Given the description of an element on the screen output the (x, y) to click on. 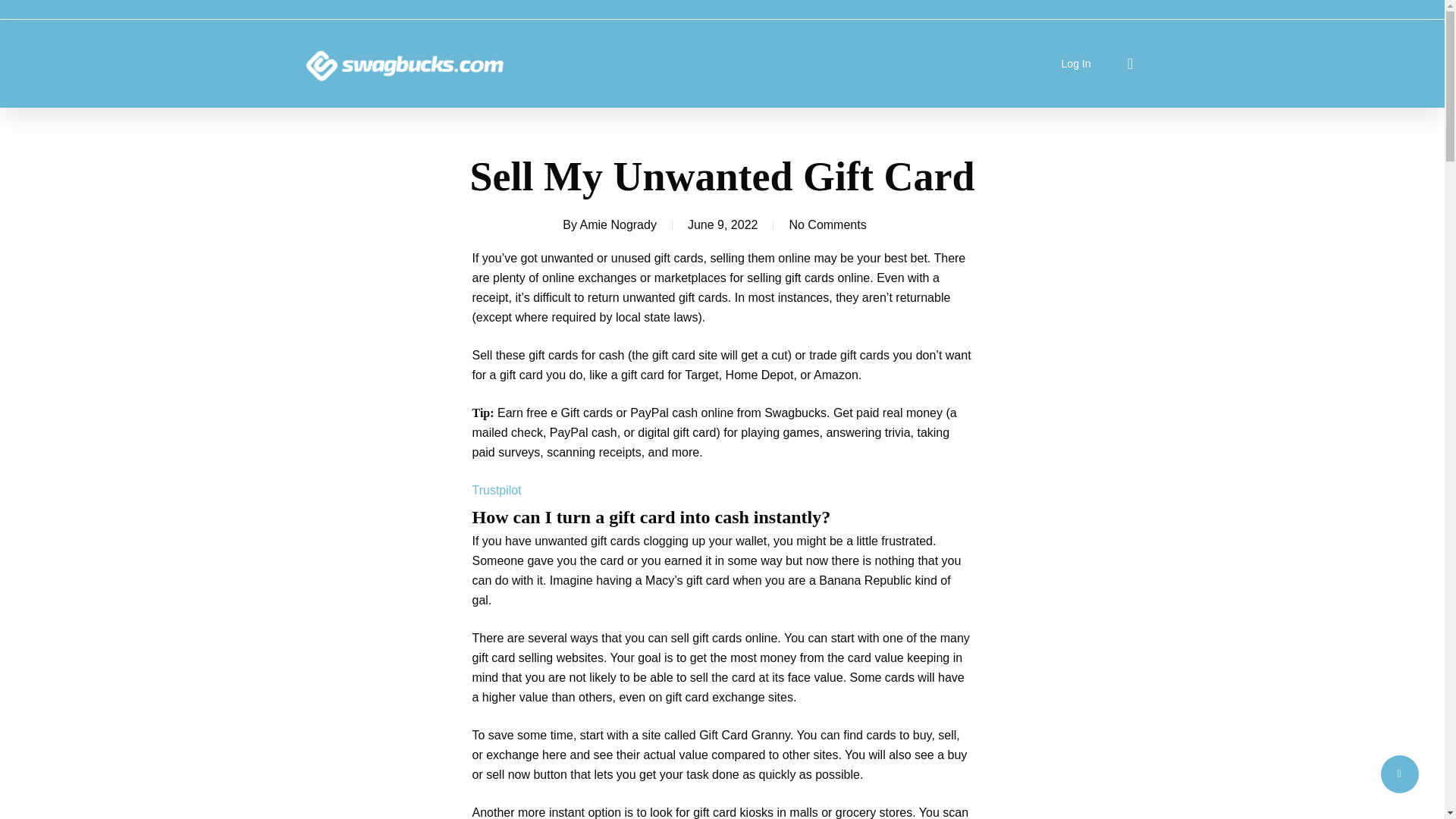
search (1129, 64)
Posts by Amie Nogrady (617, 224)
No Comments (827, 224)
Amie Nogrady (617, 224)
Log In (1075, 63)
Trustpilot (496, 490)
